Given the description of an element on the screen output the (x, y) to click on. 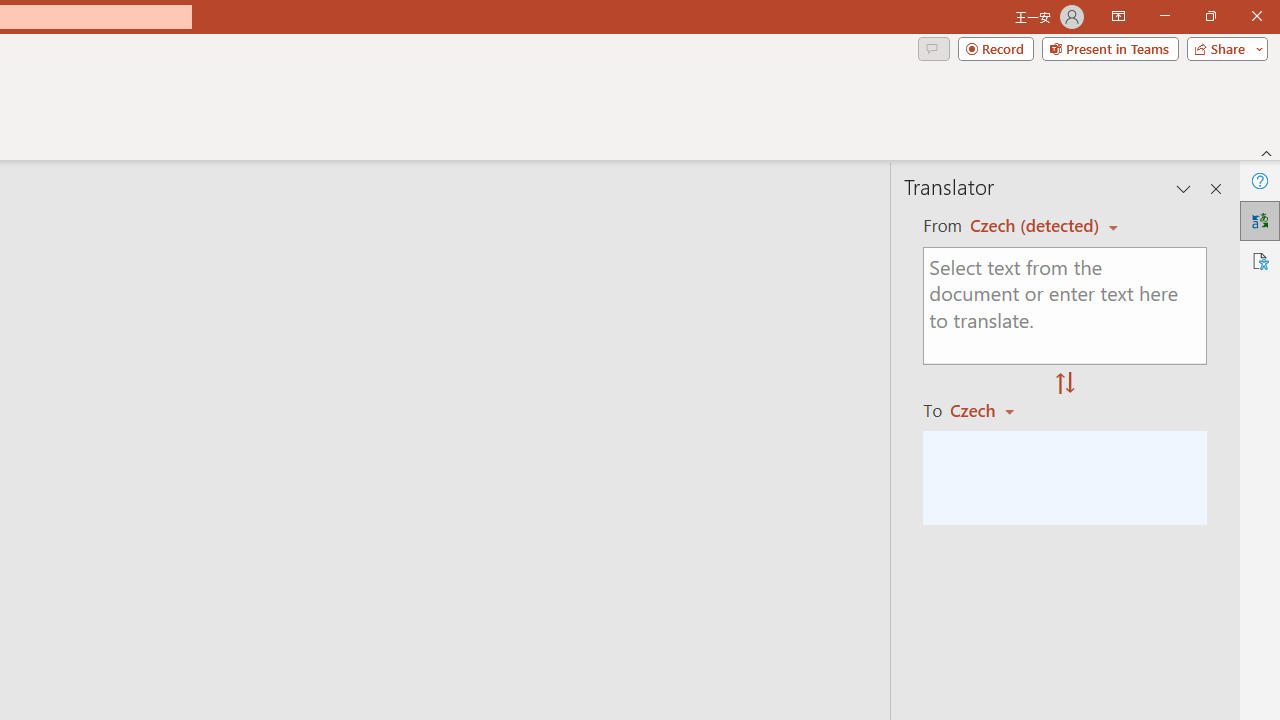
Czech (detected) (1037, 225)
Swap "from" and "to" languages. (1065, 383)
